Given the description of an element on the screen output the (x, y) to click on. 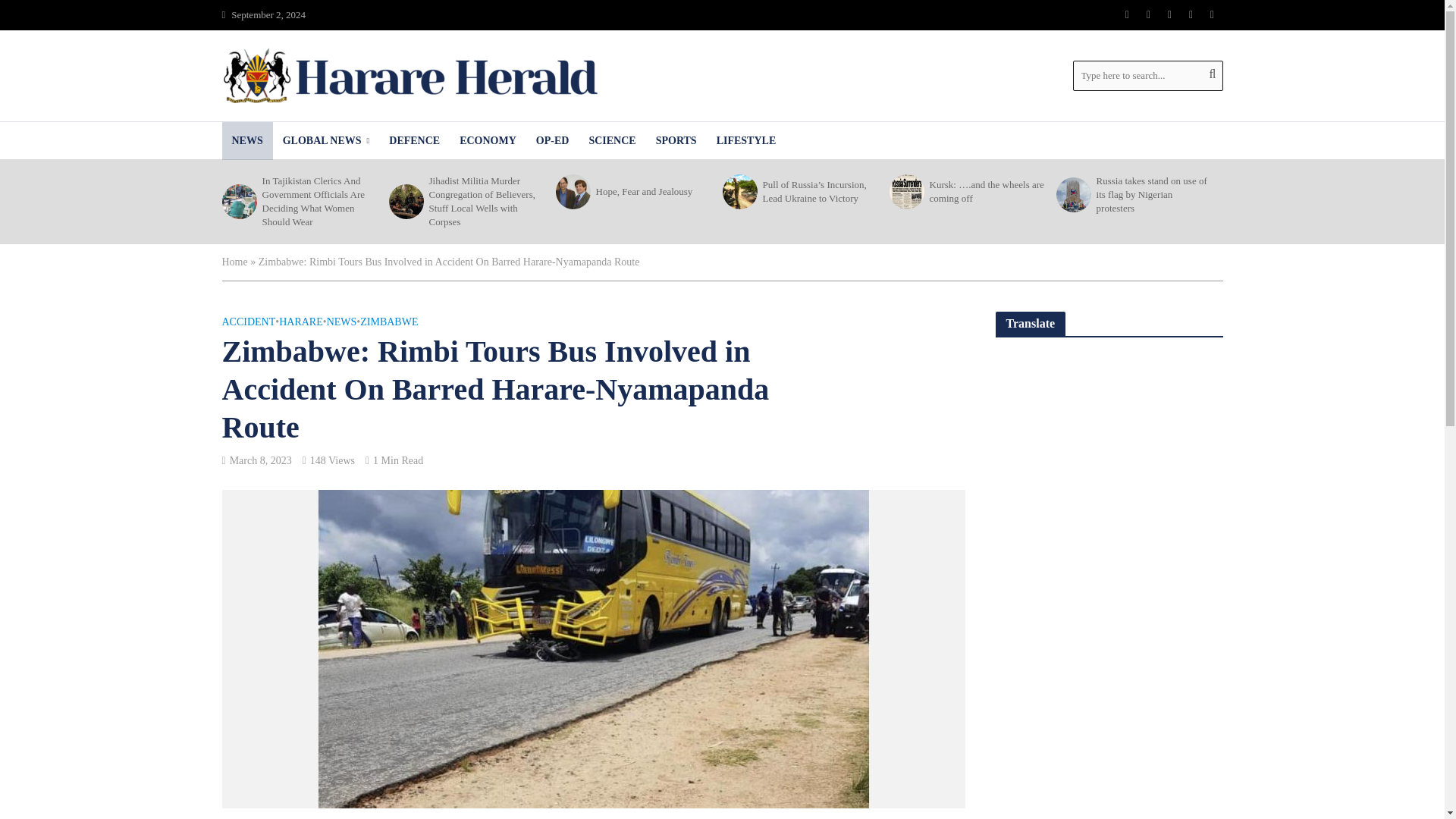
Russia takes stand on use of its flag by Nigerian protesters (1071, 194)
Hope, Fear and Jealousy (571, 191)
GLOBAL NEWS (326, 140)
NEWS (246, 140)
